Given the description of an element on the screen output the (x, y) to click on. 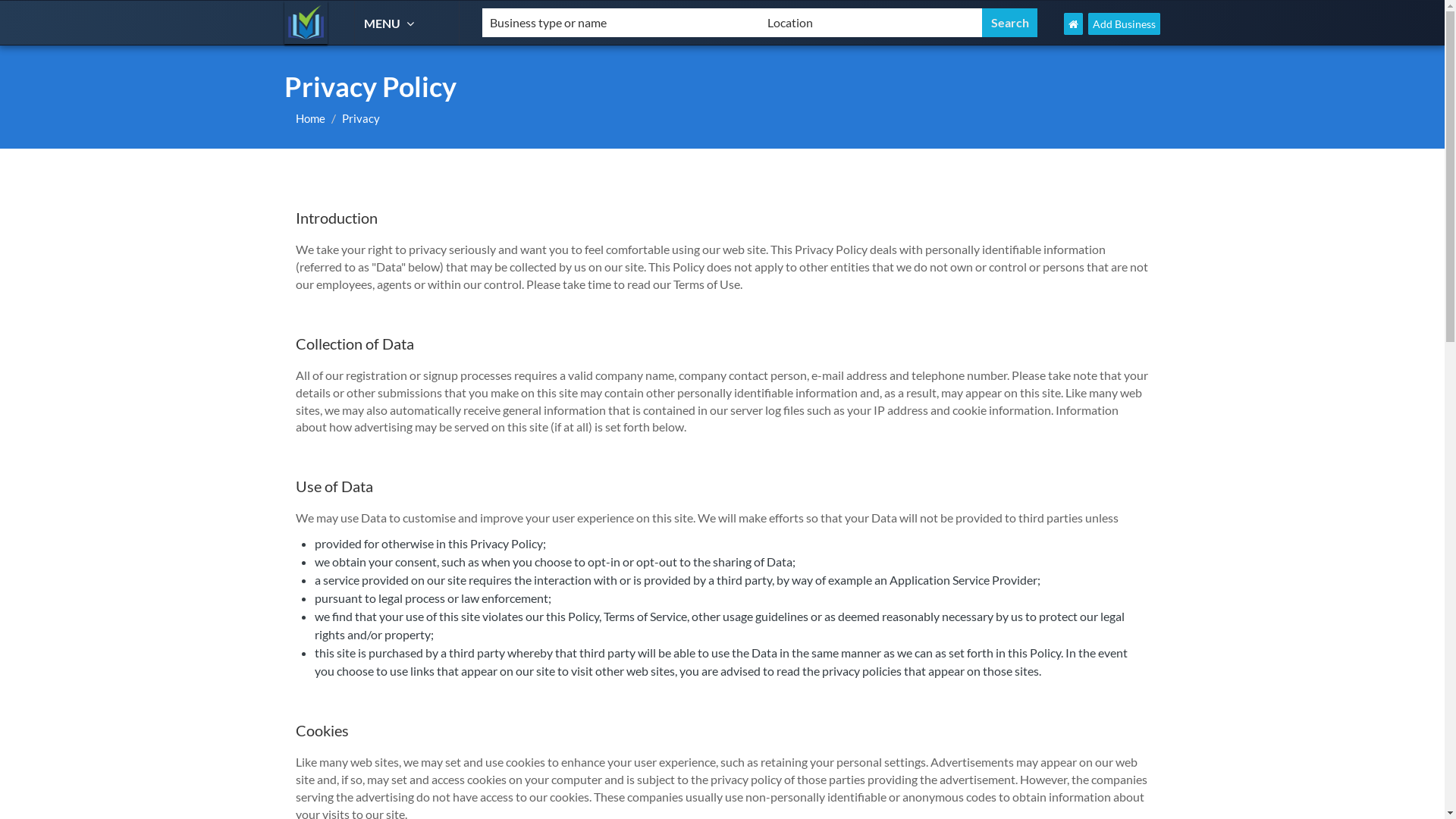
Home Element type: text (310, 118)
Education Directory Element type: hover (305, 21)
Search Element type: text (1009, 22)
Privacy Element type: text (360, 118)
Add Business Element type: text (1124, 23)
MENU Element type: text (390, 22)
Education Directory Home Page Element type: hover (1072, 23)
